Given the description of an element on the screen output the (x, y) to click on. 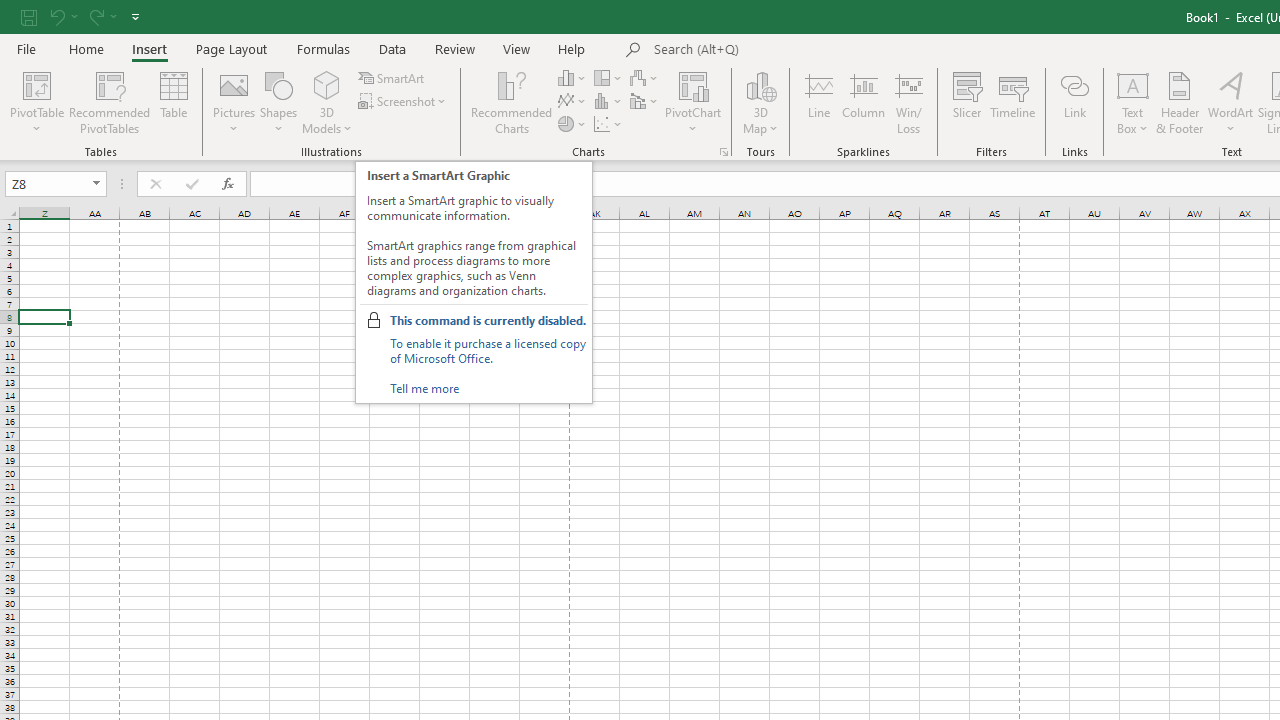
Formulas (323, 48)
SmartArt... (392, 78)
Screenshot (403, 101)
Insert Waterfall, Funnel, Stock, Surface, or Radar Chart (645, 78)
Name Box (56, 183)
PivotChart (693, 102)
Insert (149, 48)
Insert Statistic Chart (609, 101)
System (10, 11)
Header & Footer... (1179, 102)
3D Map (760, 84)
Insert Scatter (X, Y) or Bubble Chart (609, 124)
Win/Loss (909, 102)
Home (86, 48)
Recommended Charts (723, 151)
